Given the description of an element on the screen output the (x, y) to click on. 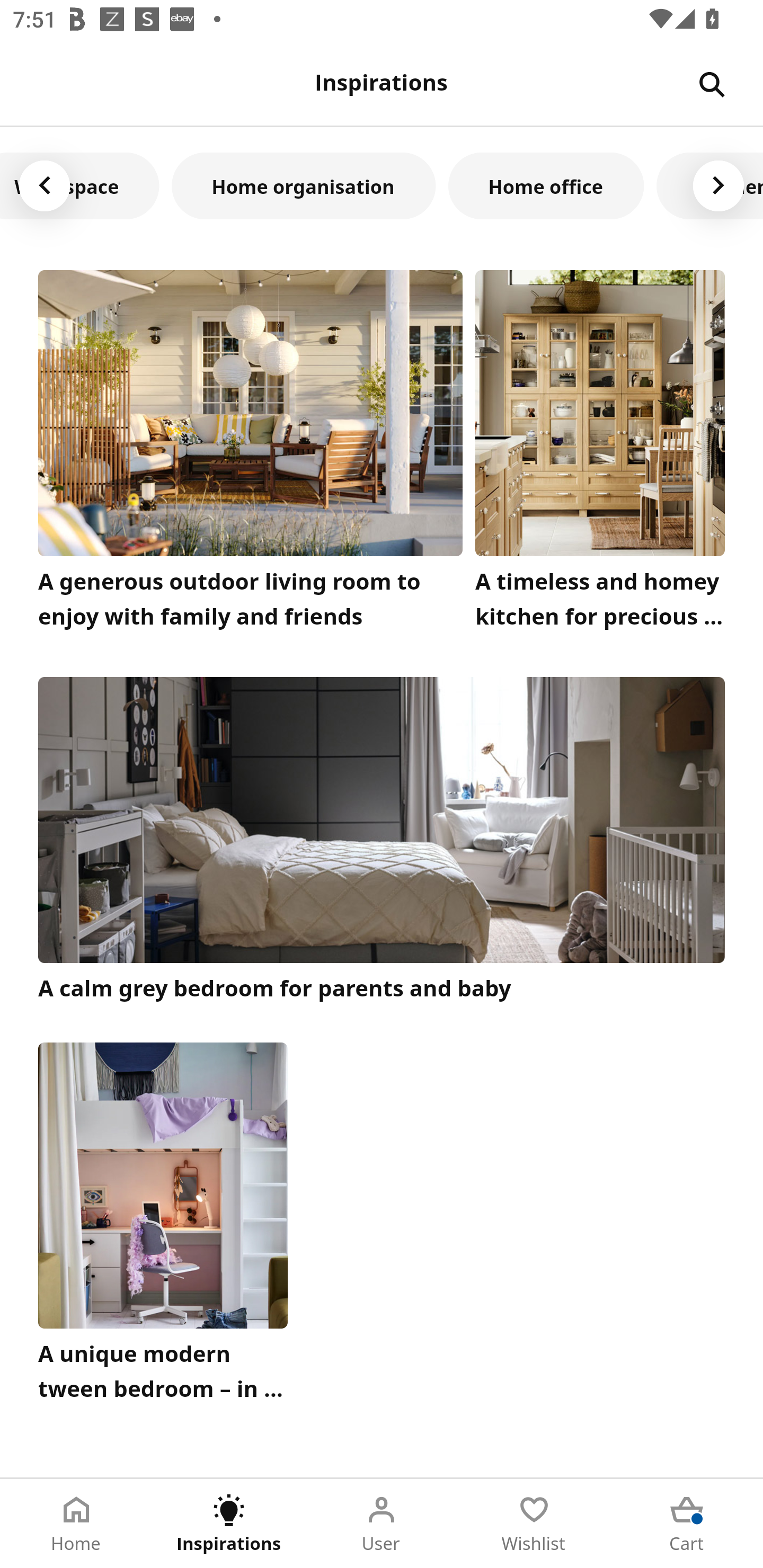
Home organisation (303, 185)
Home office (545, 185)
A calm grey bedroom for parents and baby (381, 841)
A unique modern tween bedroom – in a nook (162, 1226)
Home
Tab 1 of 5 (76, 1522)
Inspirations
Tab 2 of 5 (228, 1522)
User
Tab 3 of 5 (381, 1522)
Wishlist
Tab 4 of 5 (533, 1522)
Cart
Tab 5 of 5 (686, 1522)
